Given the description of an element on the screen output the (x, y) to click on. 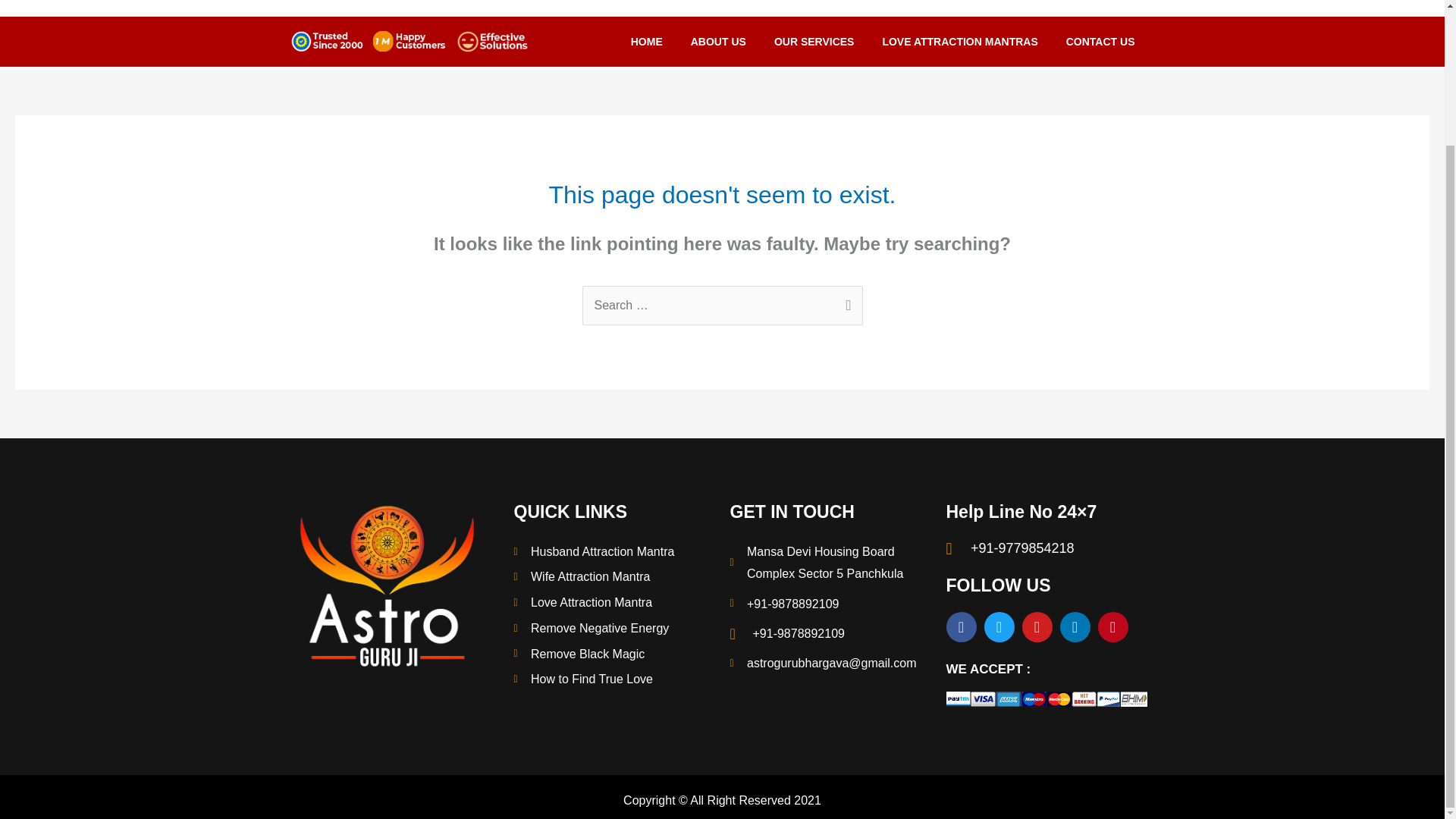
ABOUT US (718, 41)
How to Find True Love (613, 679)
OUR SERVICES (813, 41)
Remove Negative Energy (613, 628)
Wife Attraction Mantra (613, 576)
CONTACT US (1100, 41)
LOVE ATTRACTION MANTRAS (959, 41)
HOME (646, 41)
Remove Black Magic (613, 653)
Husband Attraction Mantra (613, 551)
